Given the description of an element on the screen output the (x, y) to click on. 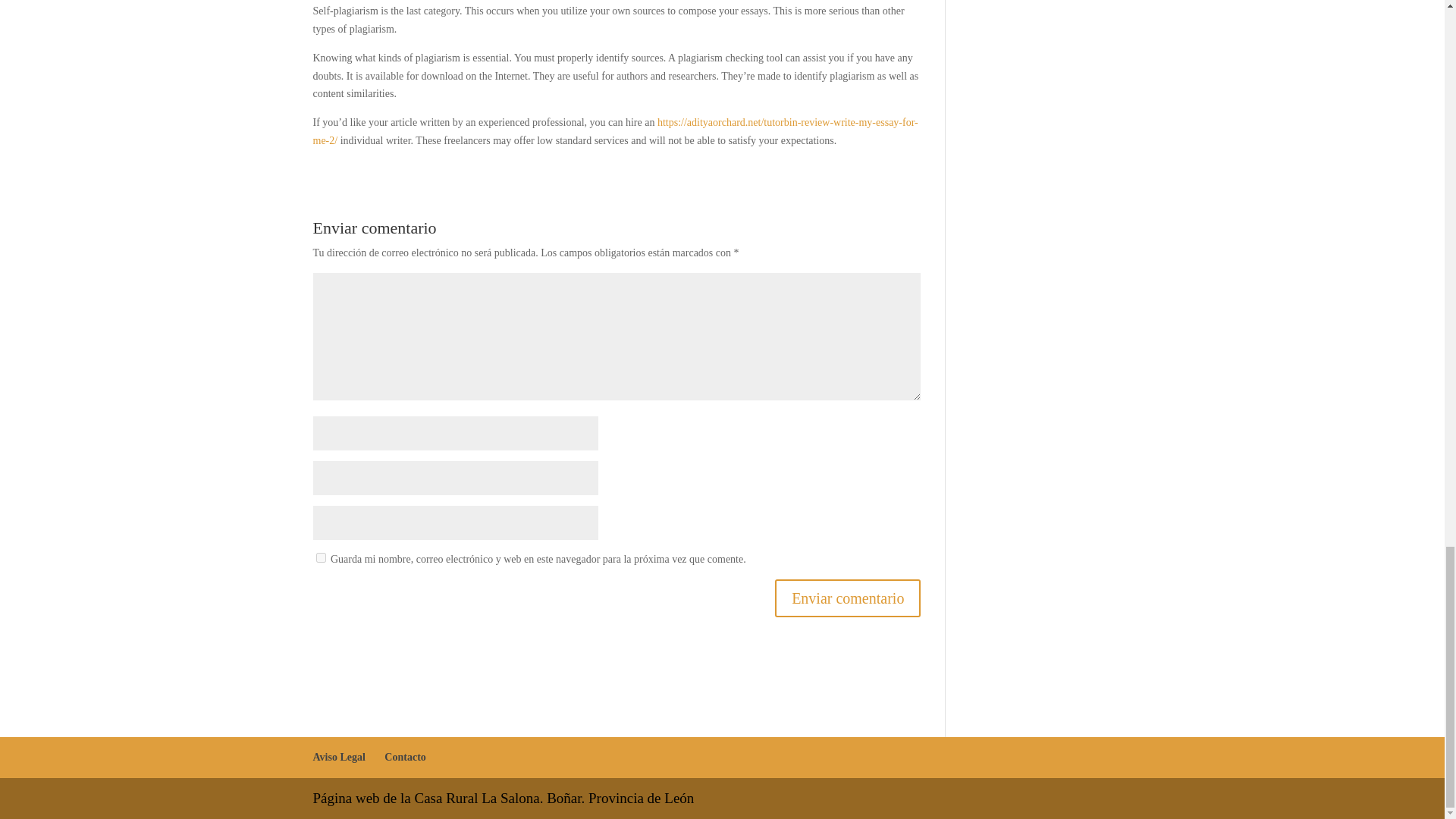
Aviso Legal (339, 756)
yes (319, 557)
Enviar comentario (847, 598)
Contacto (404, 756)
Enviar comentario (847, 598)
